Given the description of an element on the screen output the (x, y) to click on. 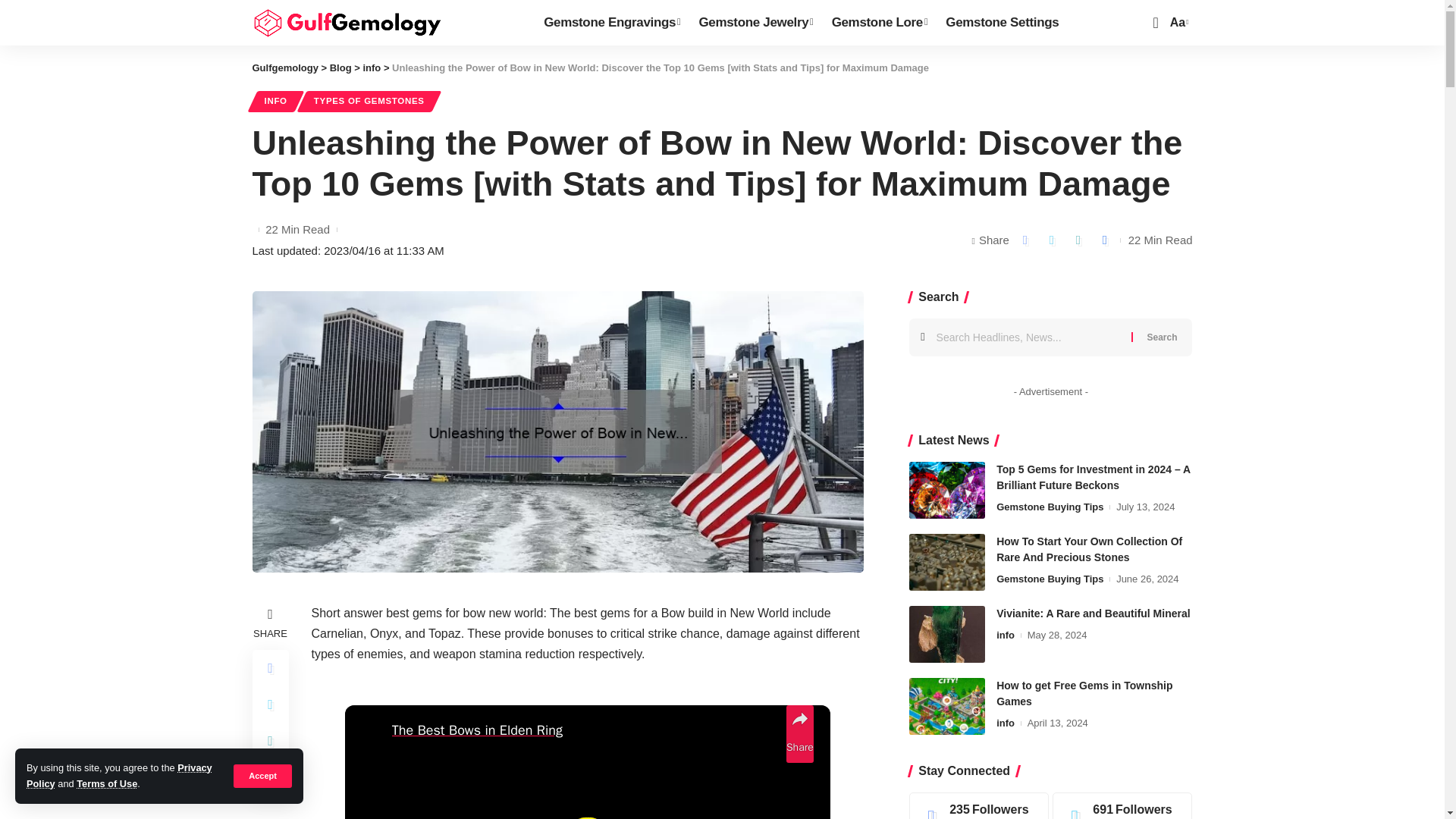
Privacy Policy (119, 775)
Gemstone Jewelry (755, 22)
Terms of Use (106, 783)
Gemstone Settings  (1003, 22)
Aa (1177, 22)
Go to the info Category archives. (371, 67)
Search (1161, 337)
Accept (262, 775)
How to get Free Gems in Township Games (946, 706)
Gemstone Engravings (611, 22)
